Given the description of an element on the screen output the (x, y) to click on. 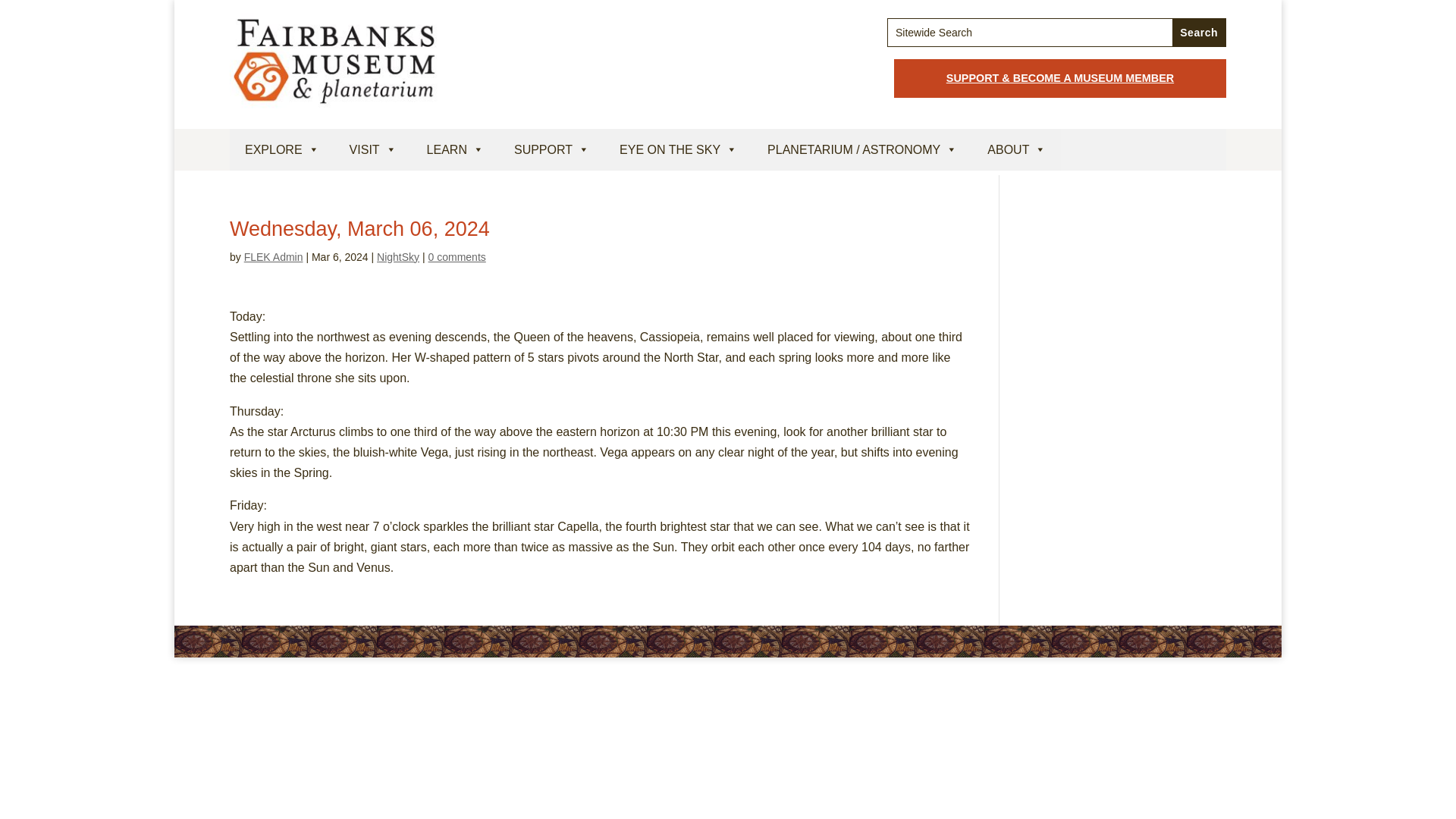
EXPLORE (282, 149)
VISIT (373, 149)
Posts by FLEK Admin (273, 256)
Search (1198, 31)
Search (1198, 31)
LEARN (455, 149)
Search (1198, 31)
SUPPORT (551, 149)
EYE ON THE SKY (678, 149)
